Given the description of an element on the screen output the (x, y) to click on. 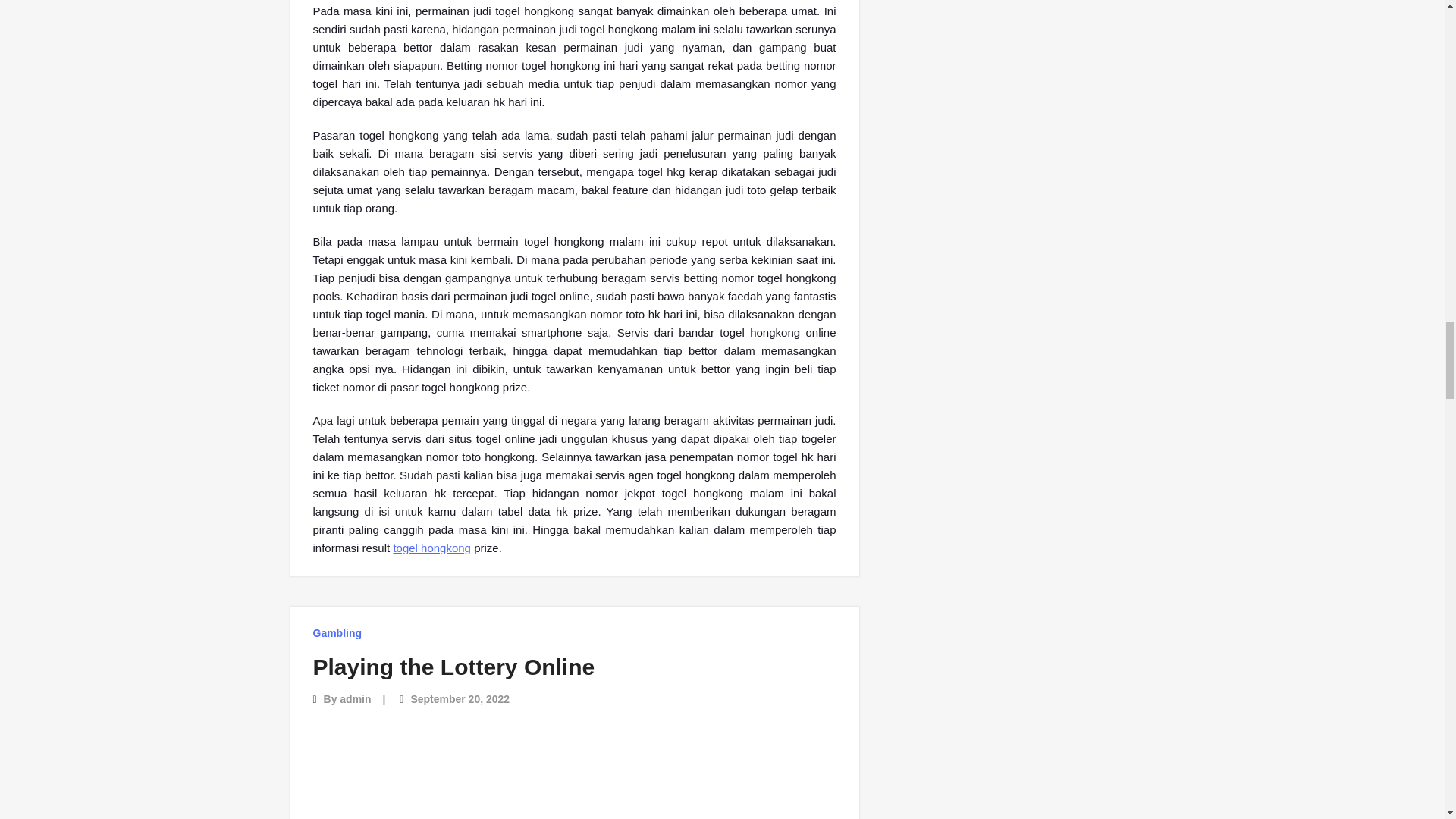
togel hongkong (431, 547)
Gambling (337, 632)
admin (355, 698)
Playing the Lottery Online (453, 666)
September 20, 2022 (459, 698)
